Given the description of an element on the screen output the (x, y) to click on. 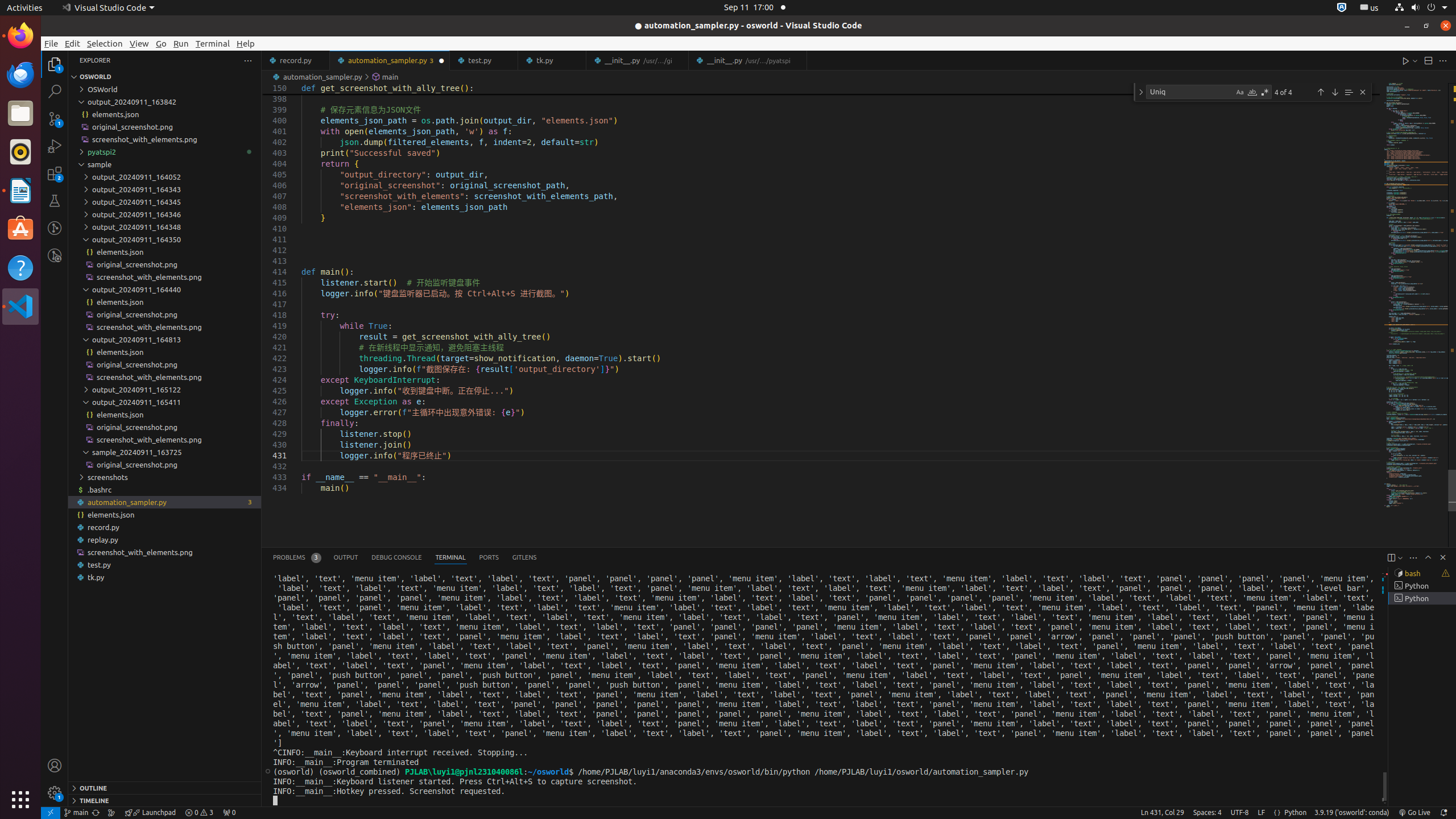
record.py Element type: page-tab (295, 60)
Run or Debug... Element type: push-button (1414, 60)
Ports Element type: page-tab (488, 557)
Run and Debug (Ctrl+Shift+D) Element type: page-tab (54, 145)
Firefox Web Browser Element type: push-button (20, 35)
